Given the description of an element on the screen output the (x, y) to click on. 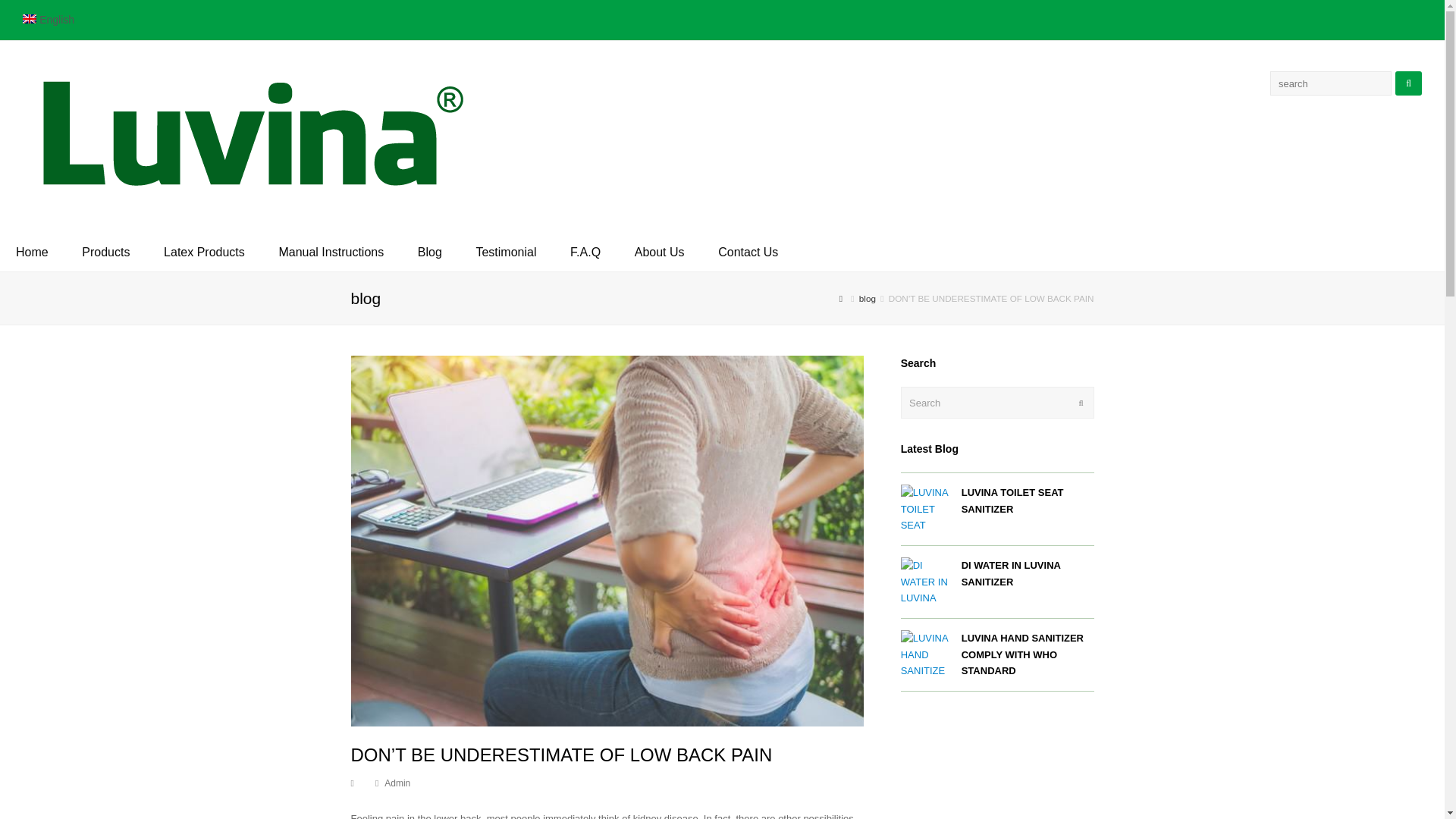
F.A.Q (584, 252)
Contact Us (748, 252)
Luvina (246, 135)
blog (867, 298)
LUVINA TOILET SEAT SANITIZER (925, 508)
search (1330, 83)
About Us (660, 252)
blog (867, 298)
Posts by Admin (397, 783)
Home (32, 252)
